Given the description of an element on the screen output the (x, y) to click on. 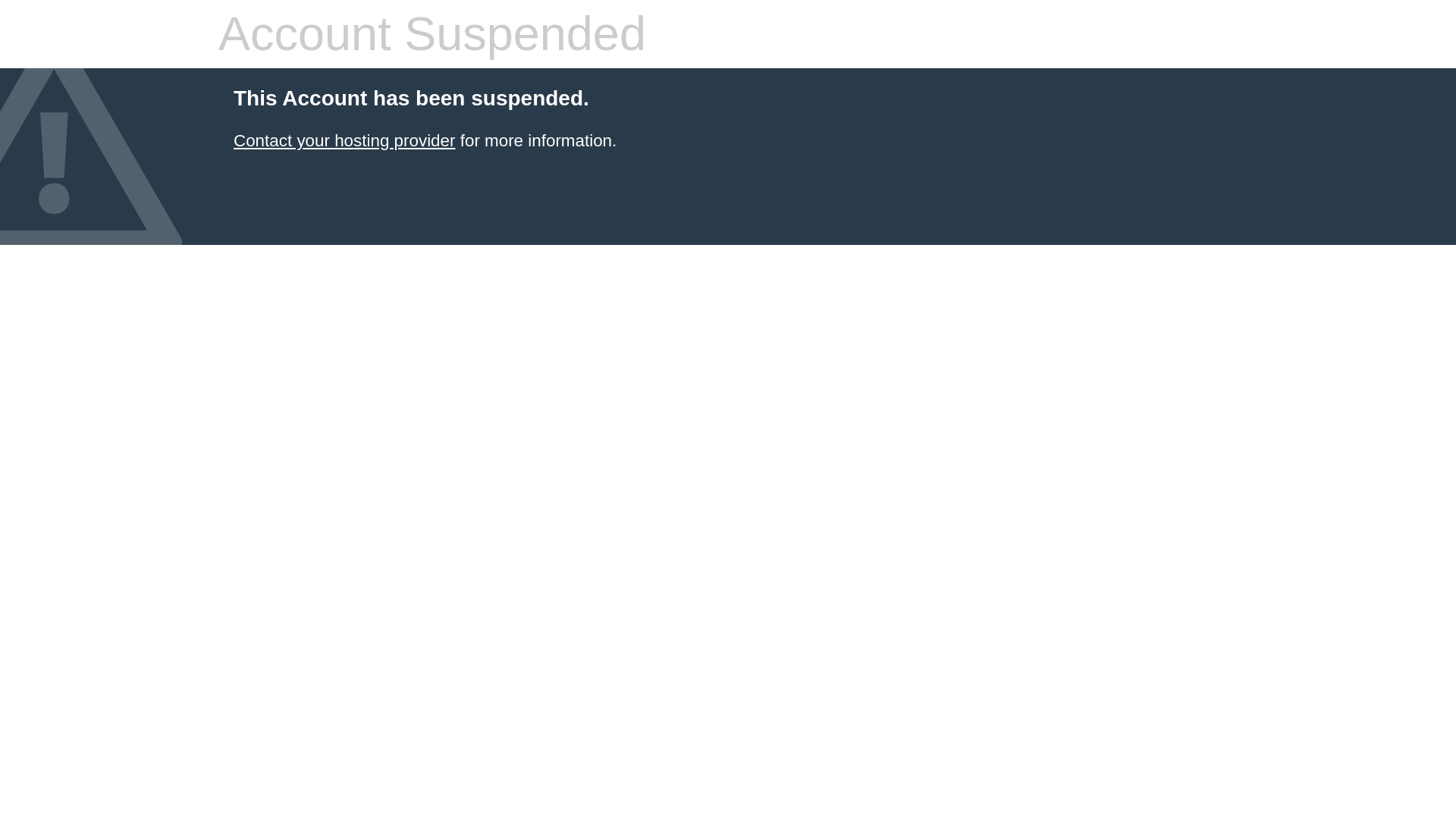
Contact your hosting provider (343, 140)
